Given the description of an element on the screen output the (x, y) to click on. 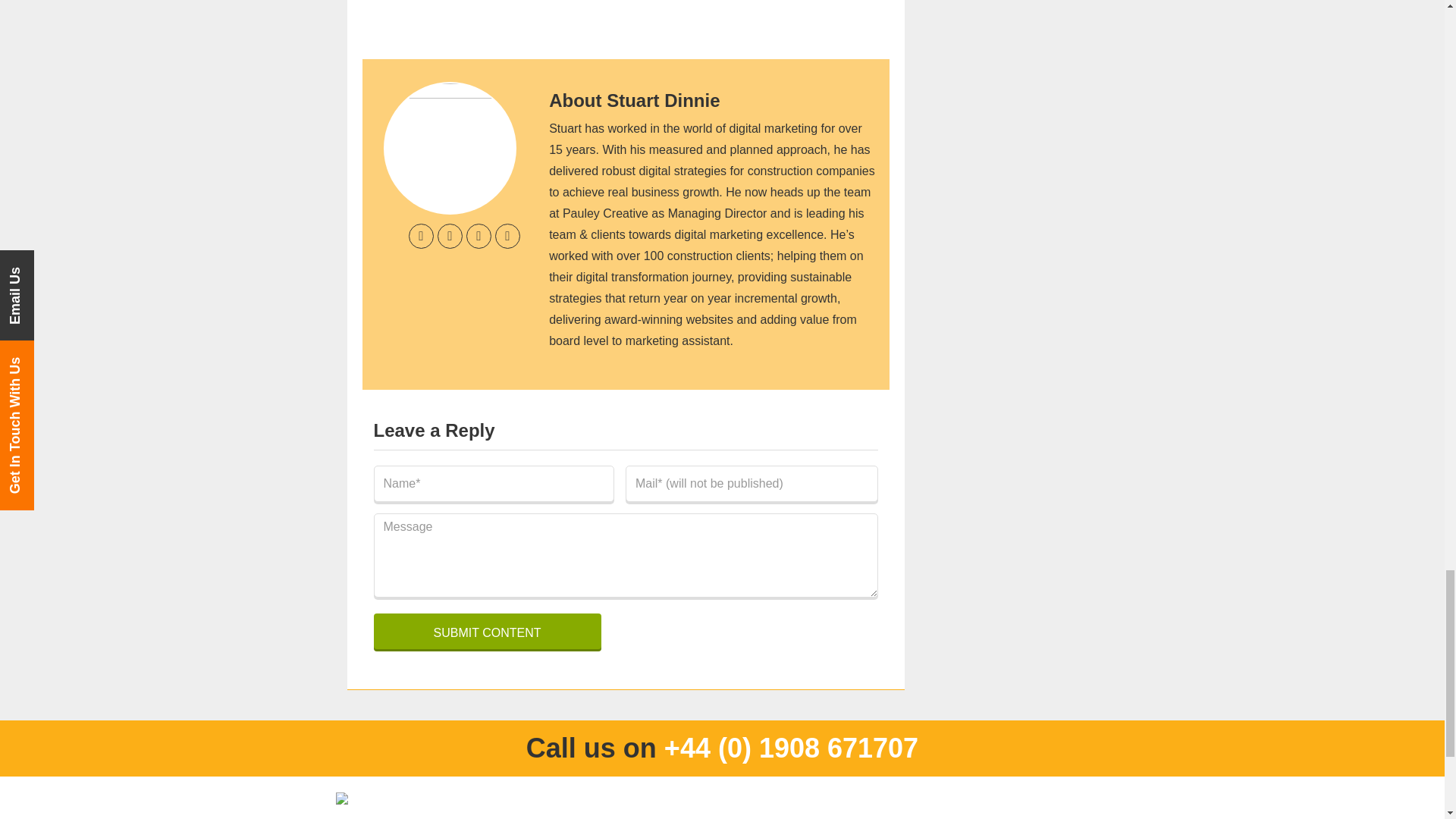
Submit content (485, 631)
